Given the description of an element on the screen output the (x, y) to click on. 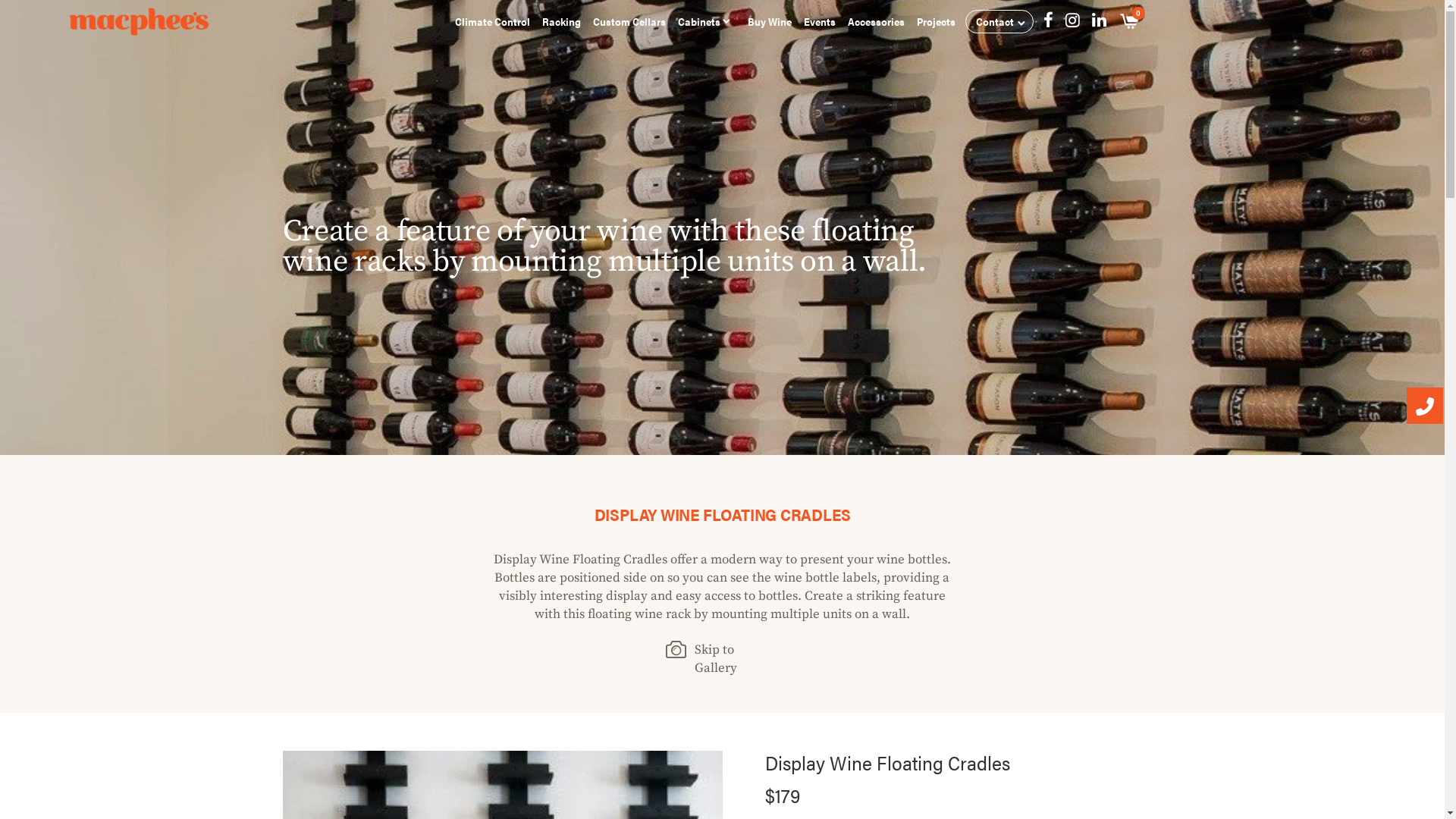
Projects Element type: text (935, 20)
Skip to Gallery Element type: text (715, 658)
Events Element type: text (819, 20)
Climate Control Element type: text (492, 20)
Racking Element type: text (561, 20)
Buy Wine Element type: text (769, 20)
Cabinets Element type: text (698, 20)
Custom Cellars Element type: text (629, 20)
Accessories Element type: text (875, 20)
Contact Element type: text (994, 20)
0 Element type: text (1129, 21)
